Given the description of an element on the screen output the (x, y) to click on. 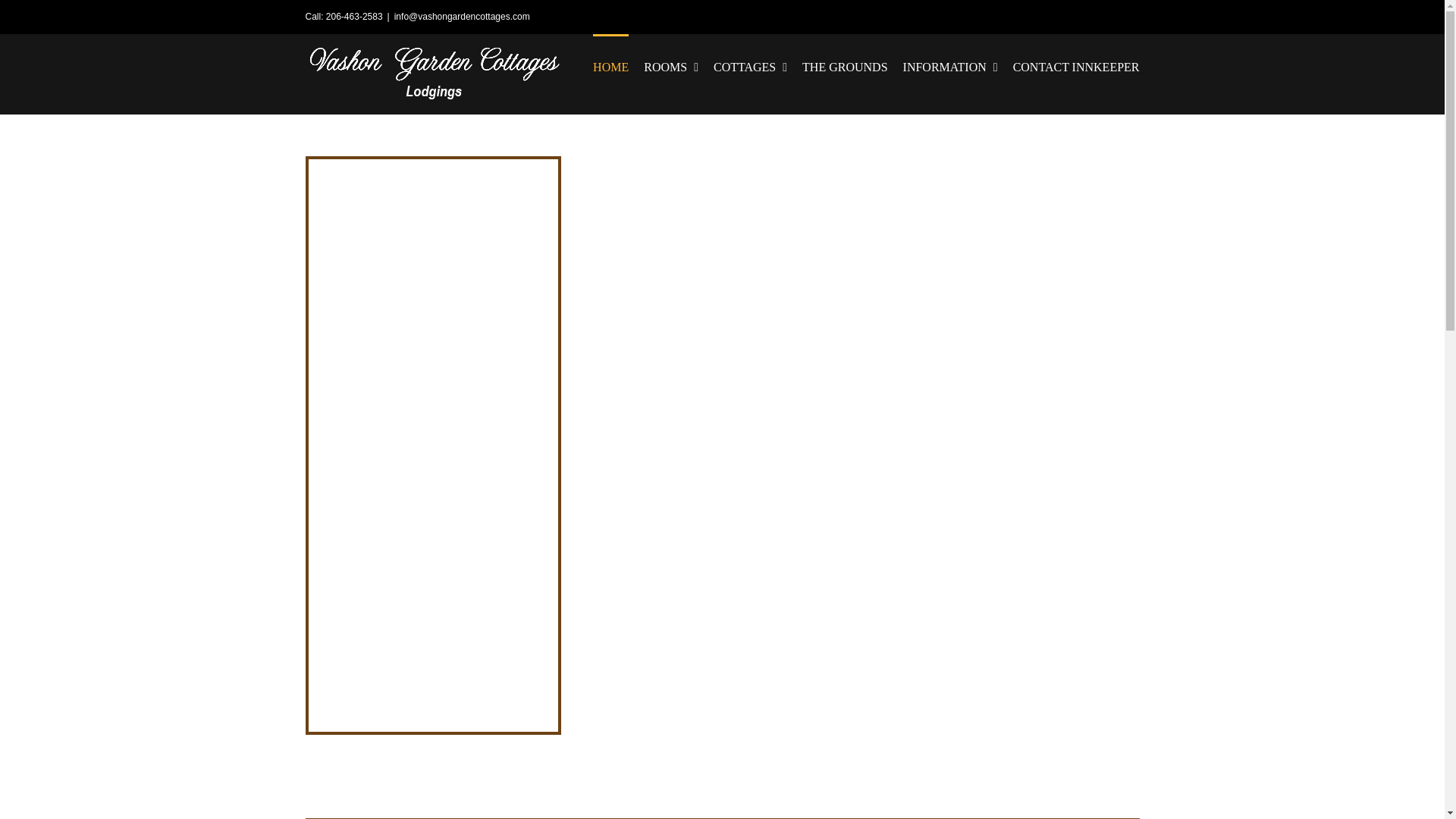
CONTACT INNKEEPER (1076, 65)
ROOMS (670, 65)
THE GROUNDS (844, 65)
HOME (610, 65)
INFORMATION (949, 65)
COTTAGES (750, 65)
